Given the description of an element on the screen output the (x, y) to click on. 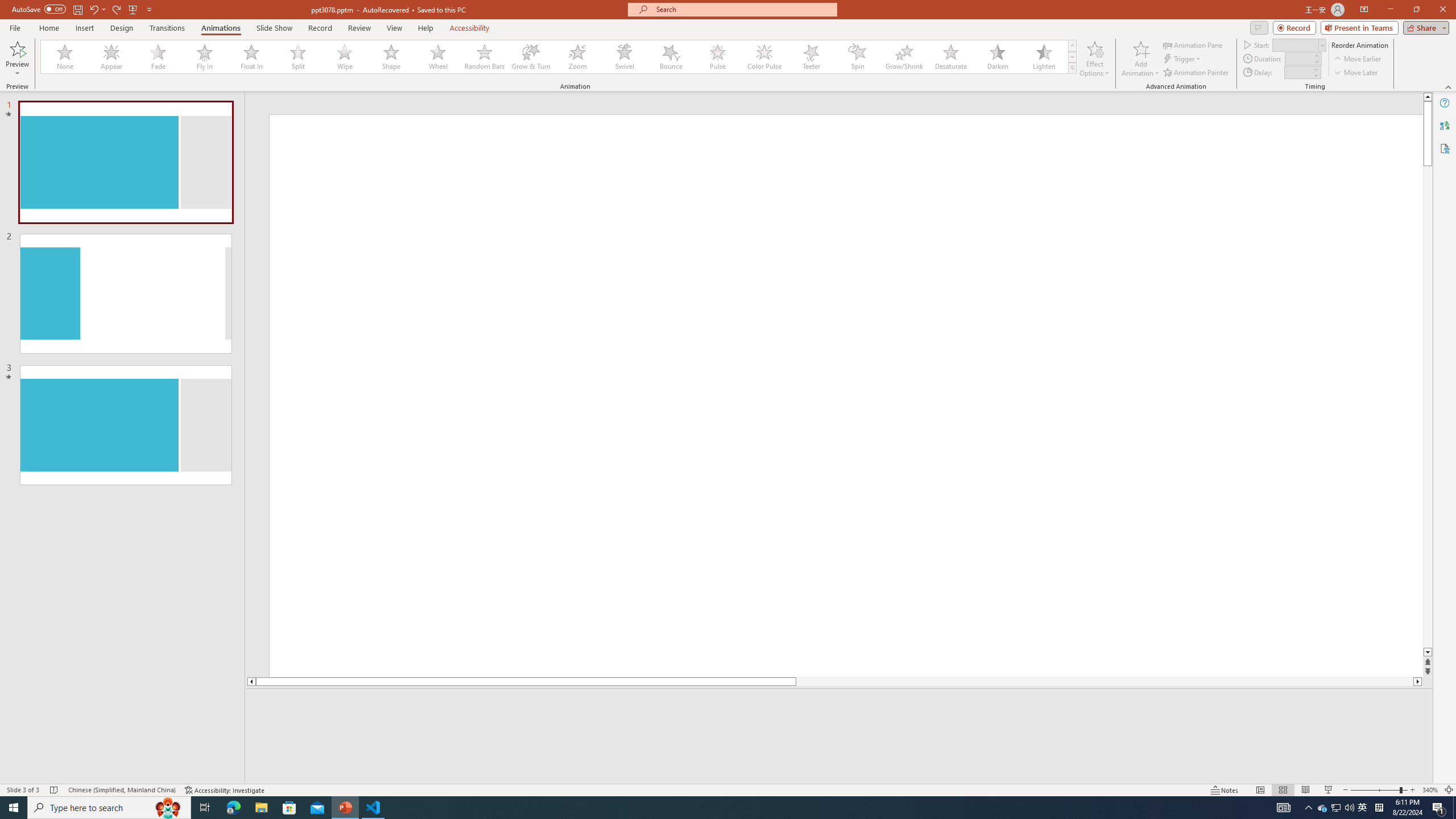
Wheel (437, 56)
More (1315, 69)
Microsoft search (742, 9)
Fade (158, 56)
Animation Duration (1298, 58)
